Given the description of an element on the screen output the (x, y) to click on. 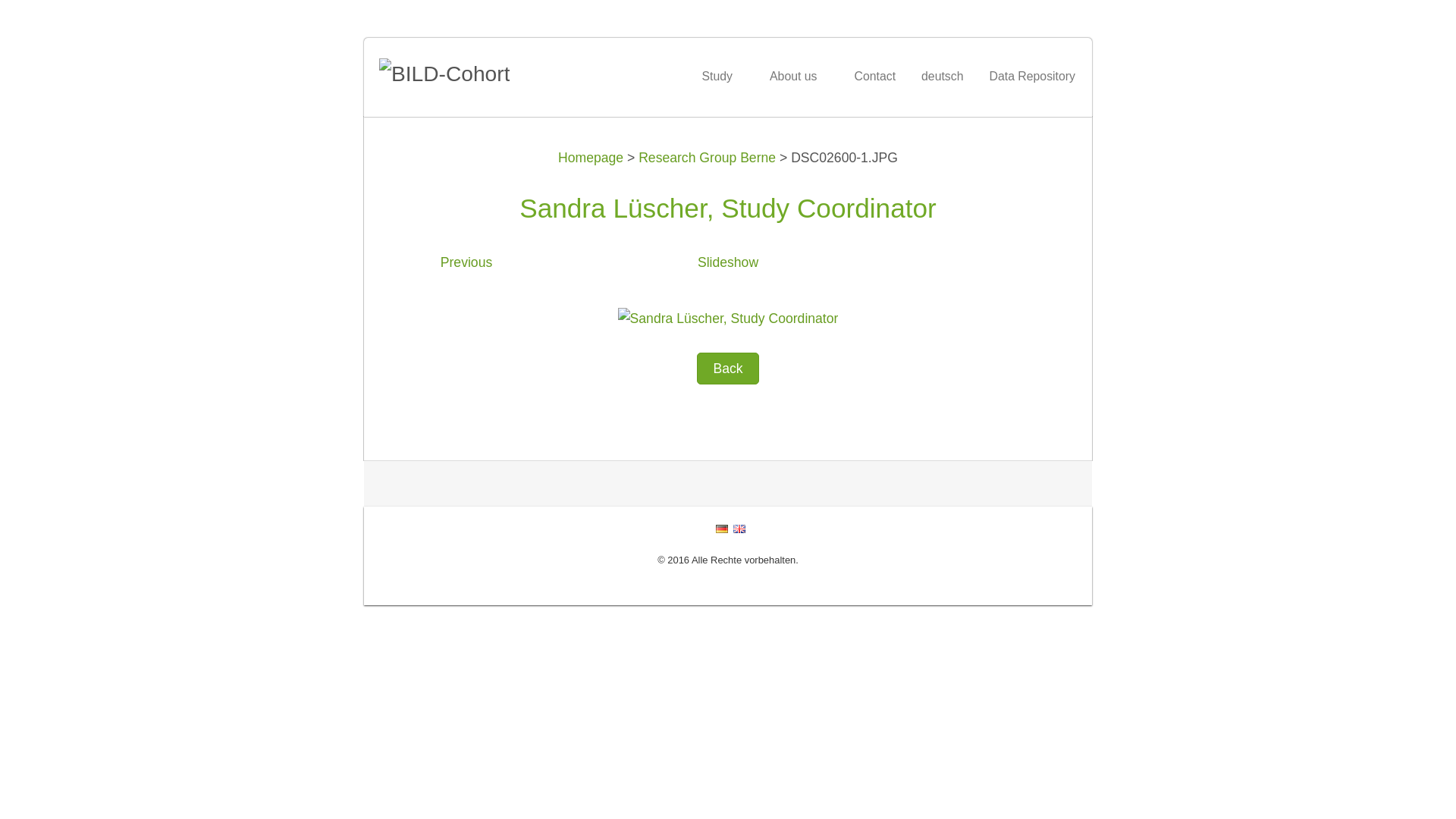
Contact Element type: text (874, 76)
Homepage Element type: text (590, 157)
deutsch Element type: text (942, 76)
Back Element type: text (727, 368)
English Element type: hover (739, 528)
Previous Element type: text (466, 261)
Research Group Berne Element type: text (706, 157)
About us Element type: text (798, 76)
Page will display in a new window. Element type: hover (728, 318)
Slideshow Element type: text (727, 261)
Go to Homepage. Element type: hover (492, 74)
Deutsch Element type: hover (721, 528)
Data Repository Element type: text (1031, 76)
Study Element type: text (723, 76)
